Given the description of an element on the screen output the (x, y) to click on. 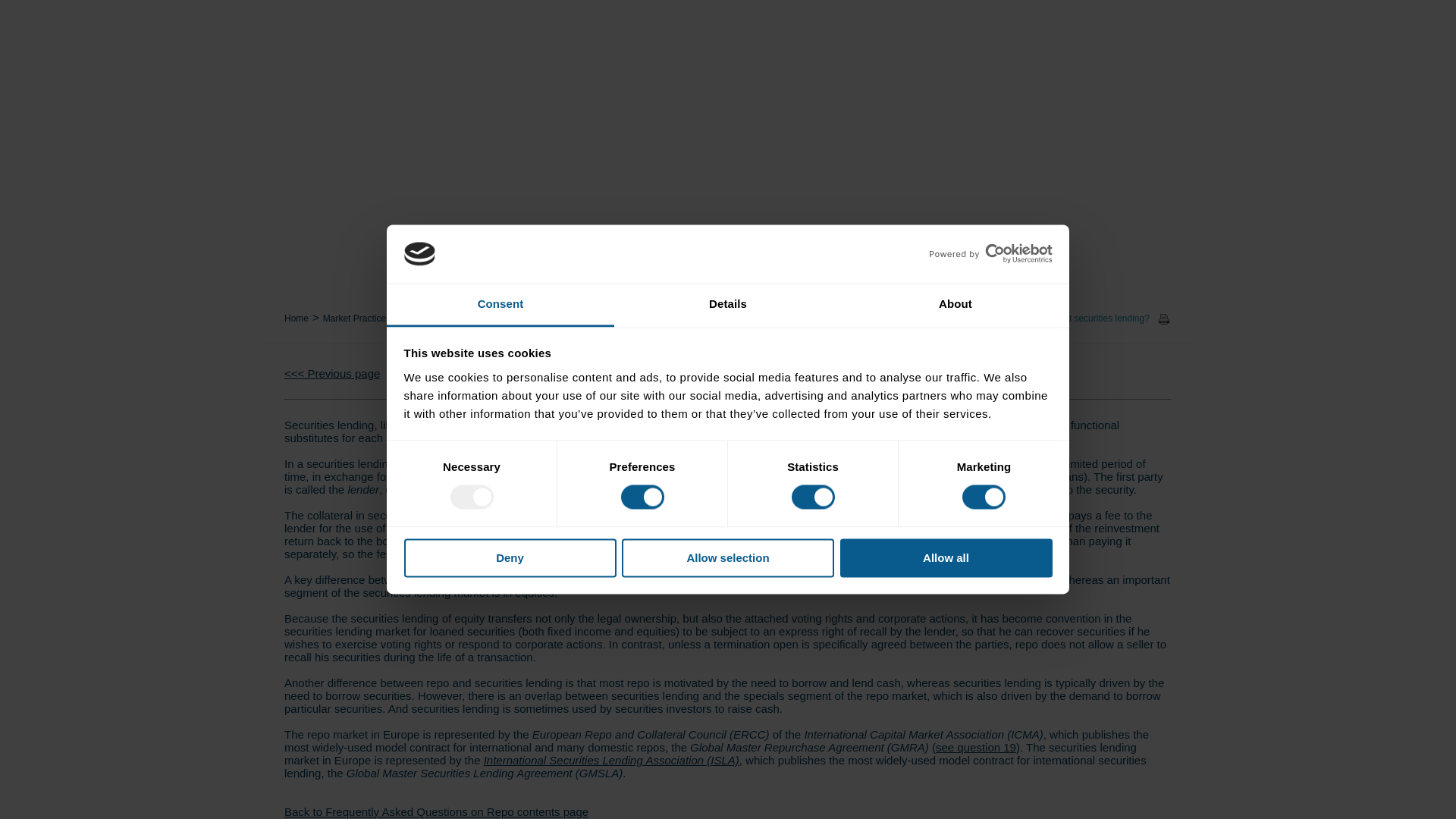
Details (727, 304)
Consent (500, 304)
About (954, 304)
